Given the description of an element on the screen output the (x, y) to click on. 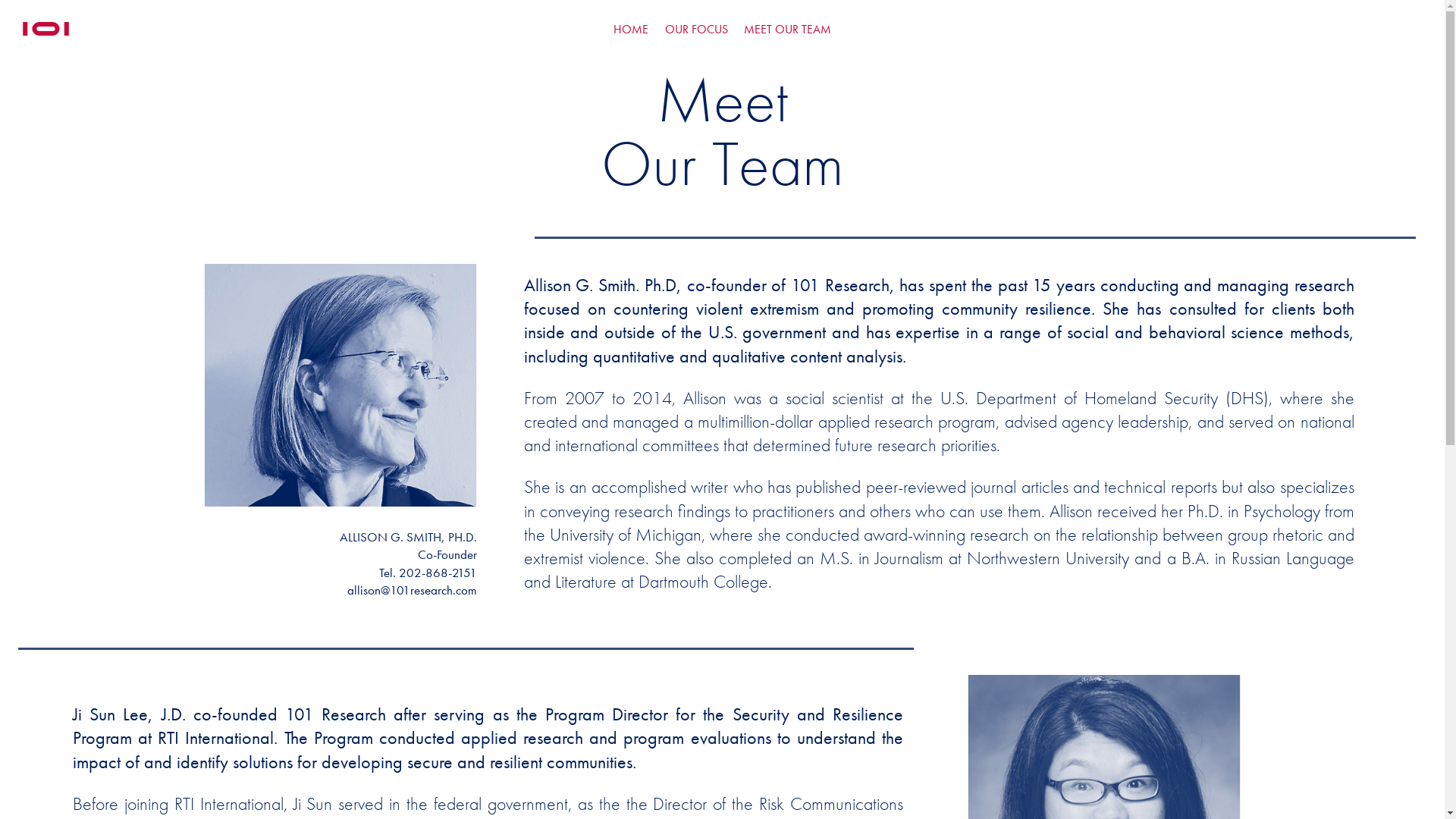
HOME Element type: text (630, 29)
OUR FOCUS Element type: text (695, 29)
MEET OUR TEAM Element type: text (787, 29)
